Given the description of an element on the screen output the (x, y) to click on. 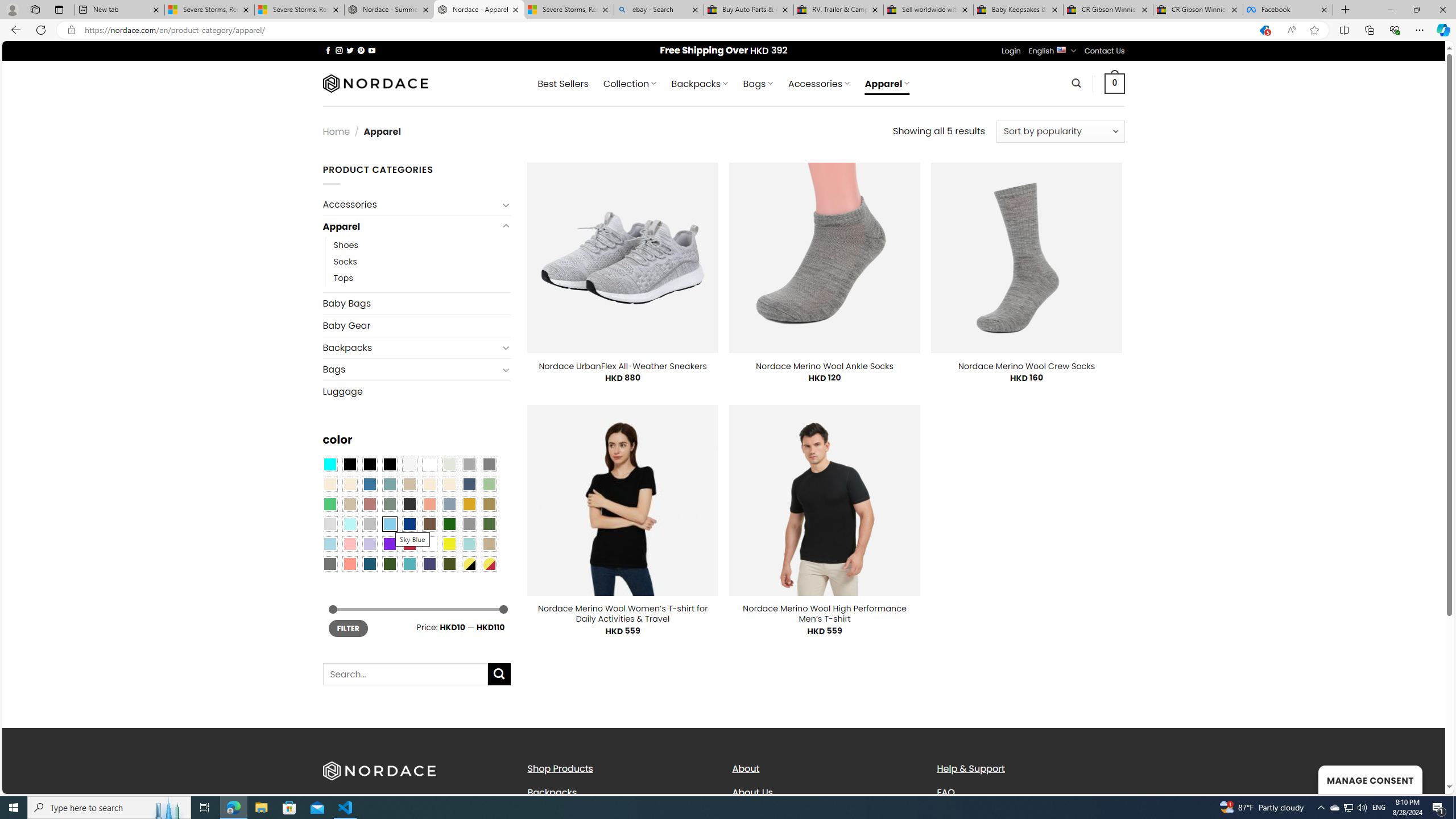
Emerald Green (329, 503)
Yellow-Red (488, 563)
All Black (349, 464)
Sage (389, 503)
Peach Pink (349, 563)
Shop order (1060, 131)
Nordace UrbanFlex All-Weather Sneakers (622, 365)
Purple (389, 543)
Dark Green (449, 523)
